Given the description of an element on the screen output the (x, y) to click on. 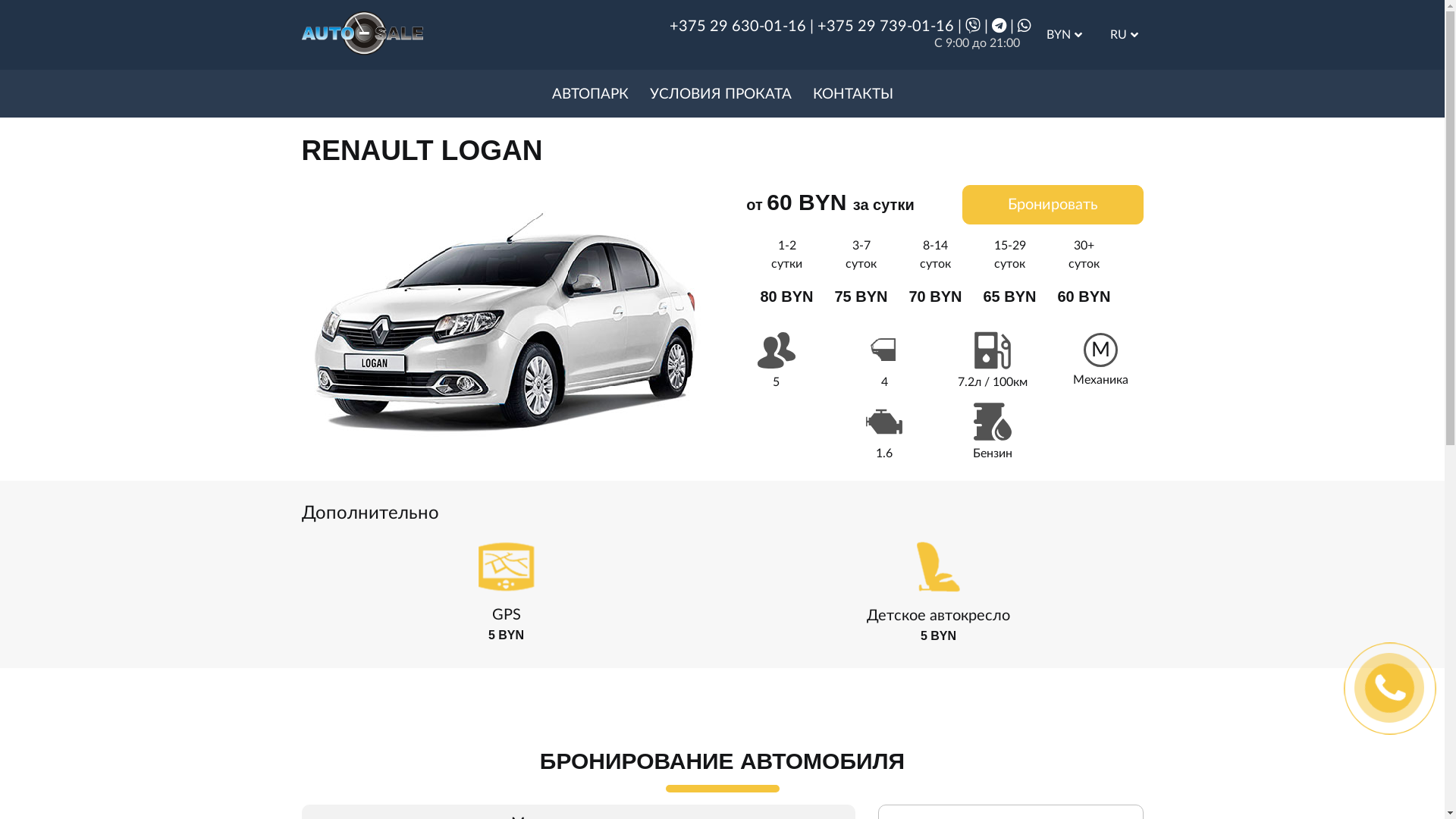
+375 29 739-01-16 Element type: text (885, 26)
+375 29 630-01-16 Element type: text (736, 26)
